Given the description of an element on the screen output the (x, y) to click on. 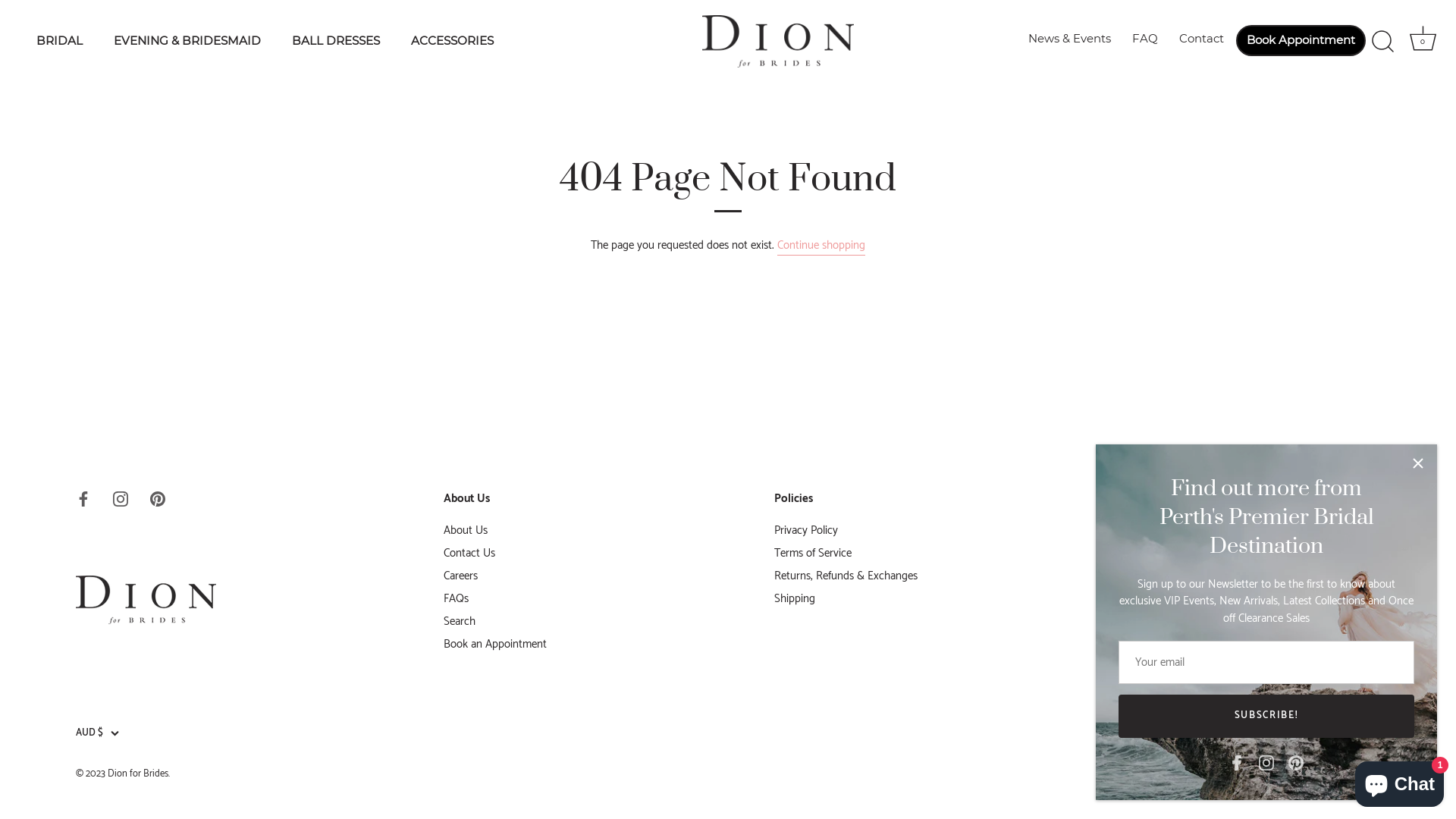
Careers Element type: text (460, 575)
Book an Appointment Element type: text (494, 643)
About Us Element type: text (465, 529)
Dion for Brides Element type: text (137, 773)
SUBSCRIBE! Element type: text (1266, 715)
Cart
0 Element type: text (1422, 41)
Contact Us Element type: text (469, 552)
Privacy Policy Element type: text (805, 529)
AUD $ Element type: text (106, 733)
RIGHT ARROW LONG Element type: text (1372, 615)
BRIDAL Element type: text (59, 41)
Book Appointment Element type: text (1300, 40)
Continue shopping Element type: text (821, 245)
Shipping Element type: text (794, 598)
News & Events Element type: text (1069, 39)
BALL DRESSES Element type: text (335, 41)
Instagram Element type: text (120, 498)
ACCESSORIES Element type: text (451, 41)
Pinterest Element type: text (157, 498)
Contact Element type: text (1201, 39)
EVENING & BRIDESMAID Element type: text (187, 41)
Search Element type: text (459, 620)
Shopify online store chat Element type: hover (1399, 780)
FAQs Element type: text (455, 598)
FAQ Element type: text (1145, 39)
Terms of Service Element type: text (812, 552)
Returns, Refunds & Exchanges Element type: text (845, 575)
